Given the description of an element on the screen output the (x, y) to click on. 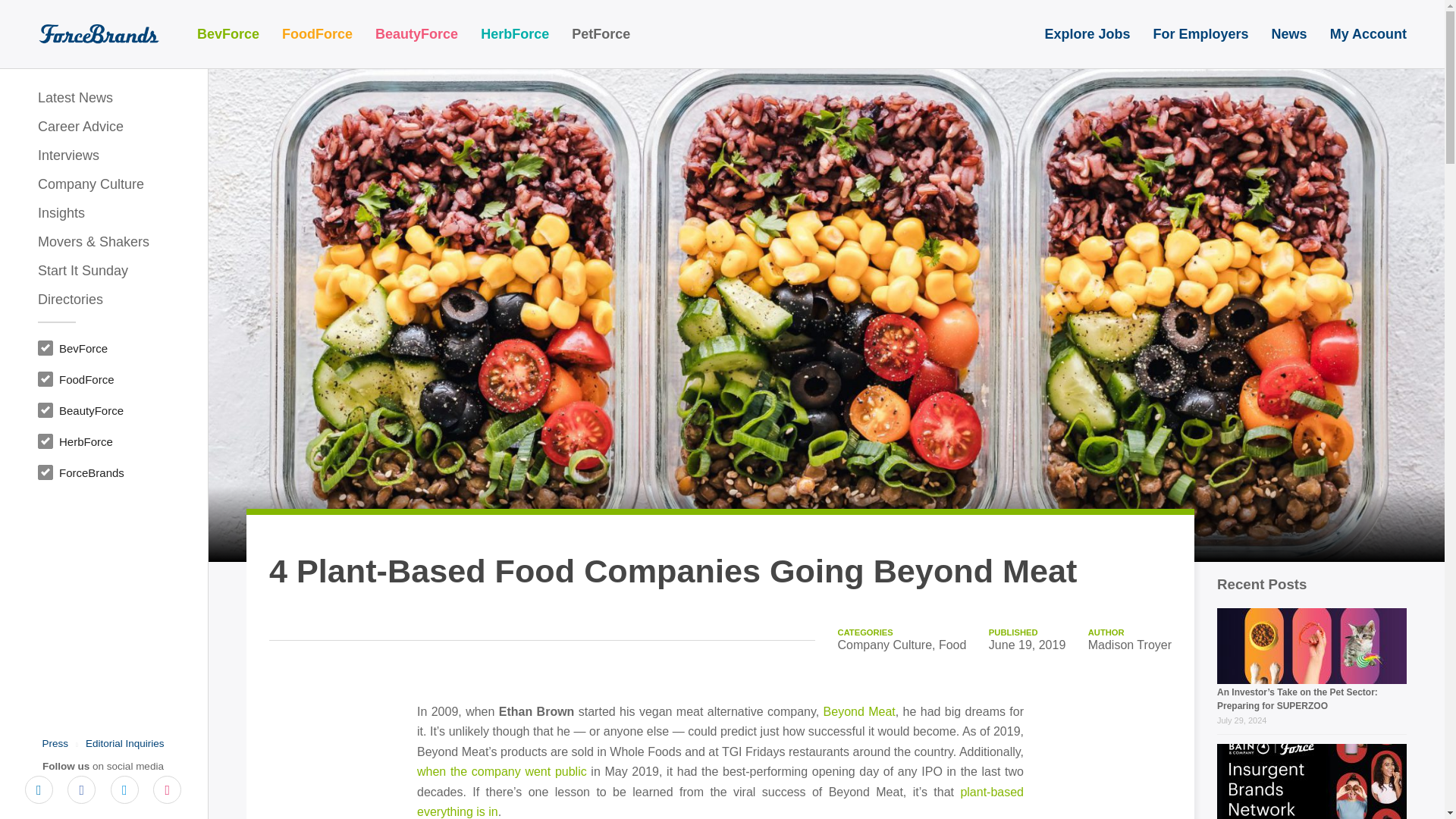
Interviews (102, 155)
FoodForce (317, 33)
Latest News (102, 97)
Company Culture (102, 183)
My Account (1368, 33)
Editorial Inquiries (124, 743)
BevForce (227, 33)
when the company went public (501, 771)
Directories (102, 299)
Start It Sunday (102, 270)
plant-based everything is in (719, 801)
Beyond Meat (859, 711)
Madison Troyer (1129, 644)
For Employers (1201, 33)
Company Culture (885, 644)
